Given the description of an element on the screen output the (x, y) to click on. 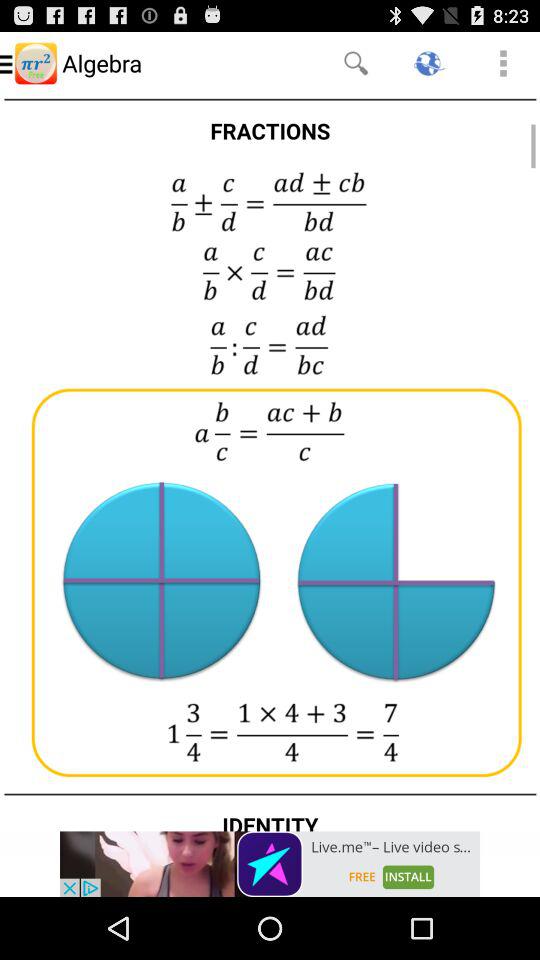
files (270, 462)
